Given the description of an element on the screen output the (x, y) to click on. 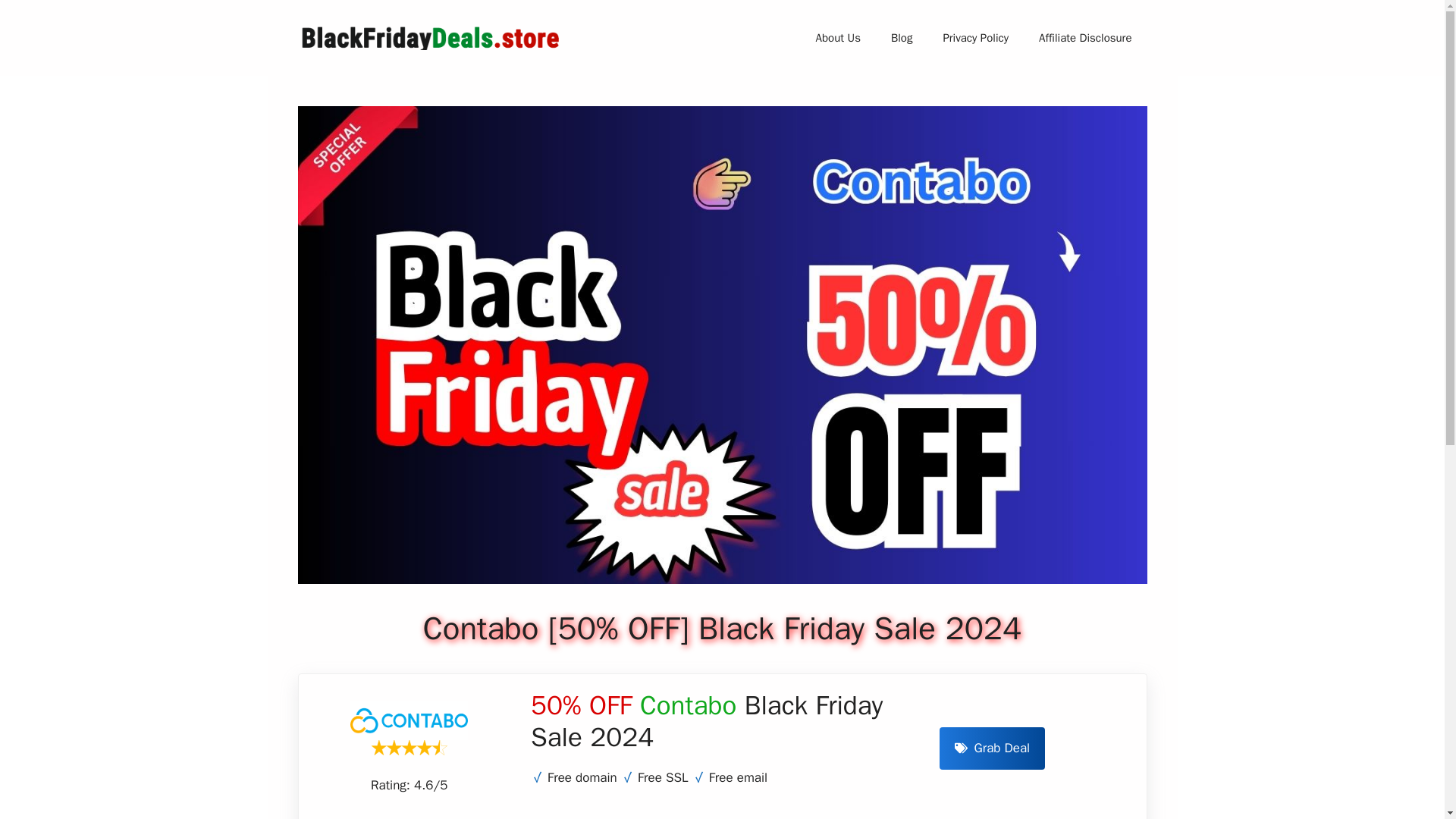
Blog (901, 37)
Privacy Policy (975, 37)
Grab Deal (992, 748)
About Us (838, 37)
Affiliate Disclosure (1085, 37)
